Given the description of an element on the screen output the (x, y) to click on. 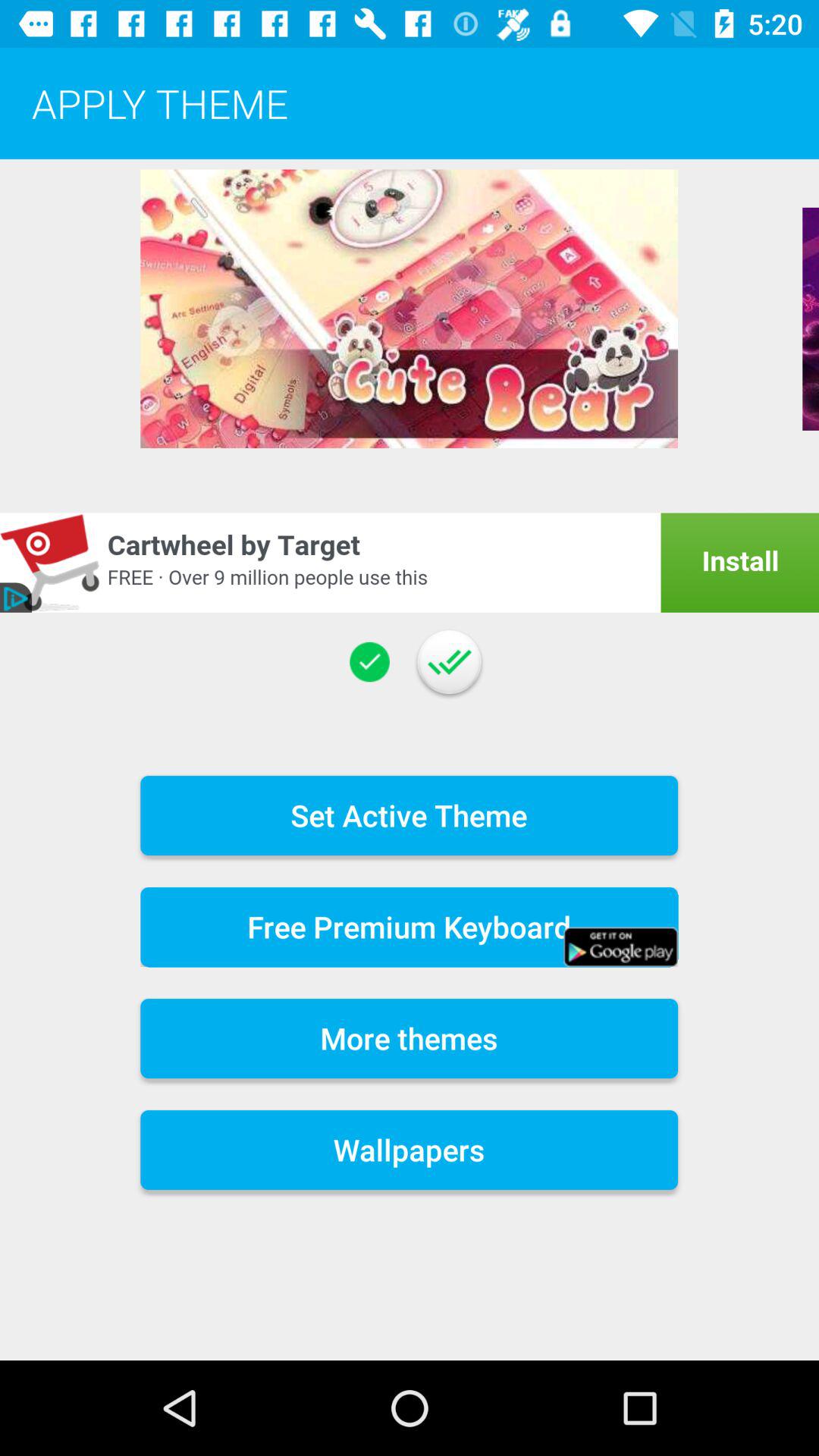
choose free premium keyboard (408, 926)
